Given the description of an element on the screen output the (x, y) to click on. 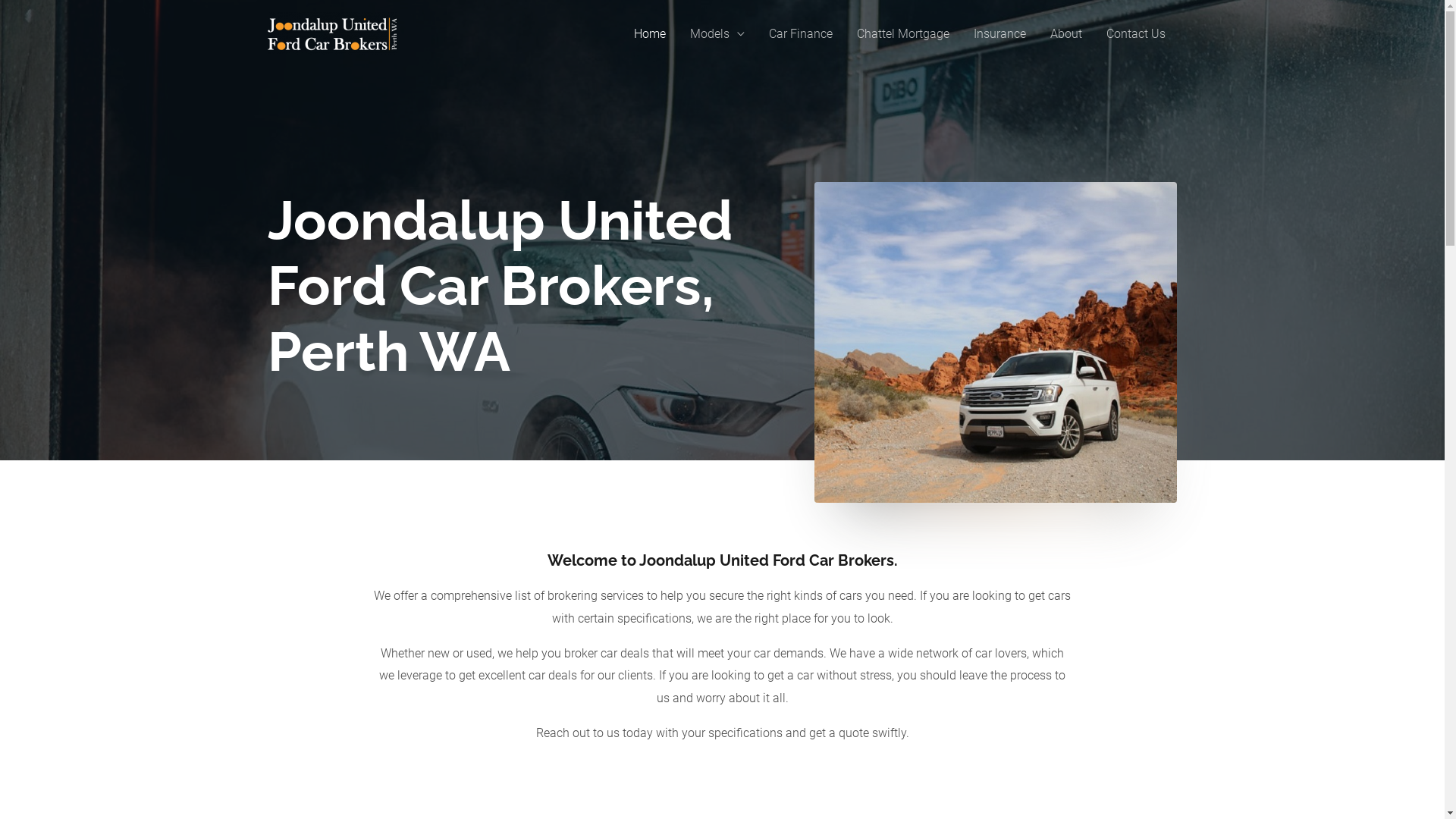
Models Element type: text (716, 33)
Insurance Element type: text (999, 33)
Chattel Mortgage Element type: text (902, 33)
About Element type: text (1065, 33)
Contact Us Element type: text (1134, 33)
Car Finance Element type: text (800, 33)
Home Element type: text (649, 33)
